Given the description of an element on the screen output the (x, y) to click on. 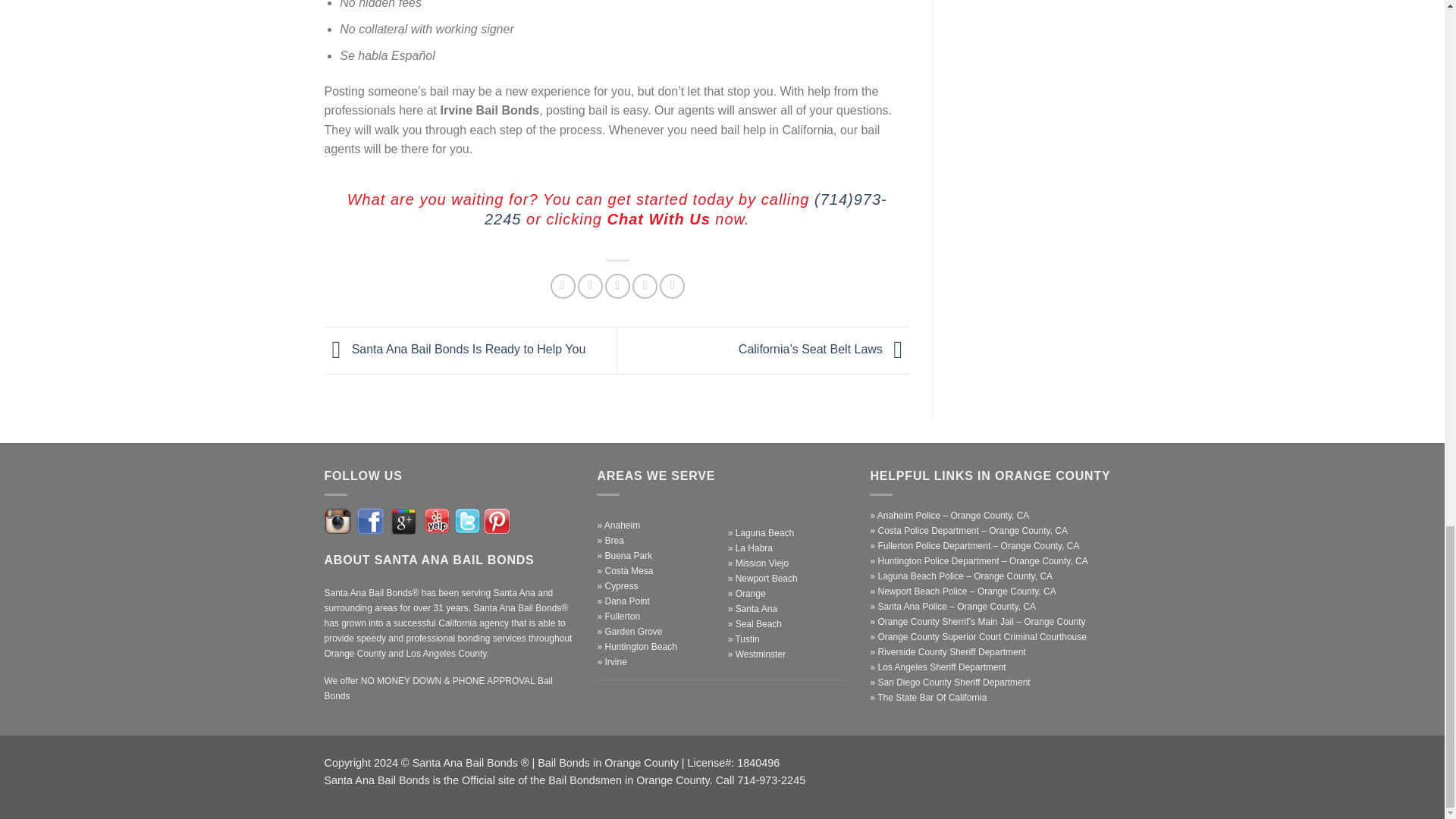
Email to a Friend (617, 285)
Share on Twitter (590, 285)
Share on LinkedIn (671, 285)
Pin on Pinterest (644, 285)
Share on Facebook (562, 285)
